Given the description of an element on the screen output the (x, y) to click on. 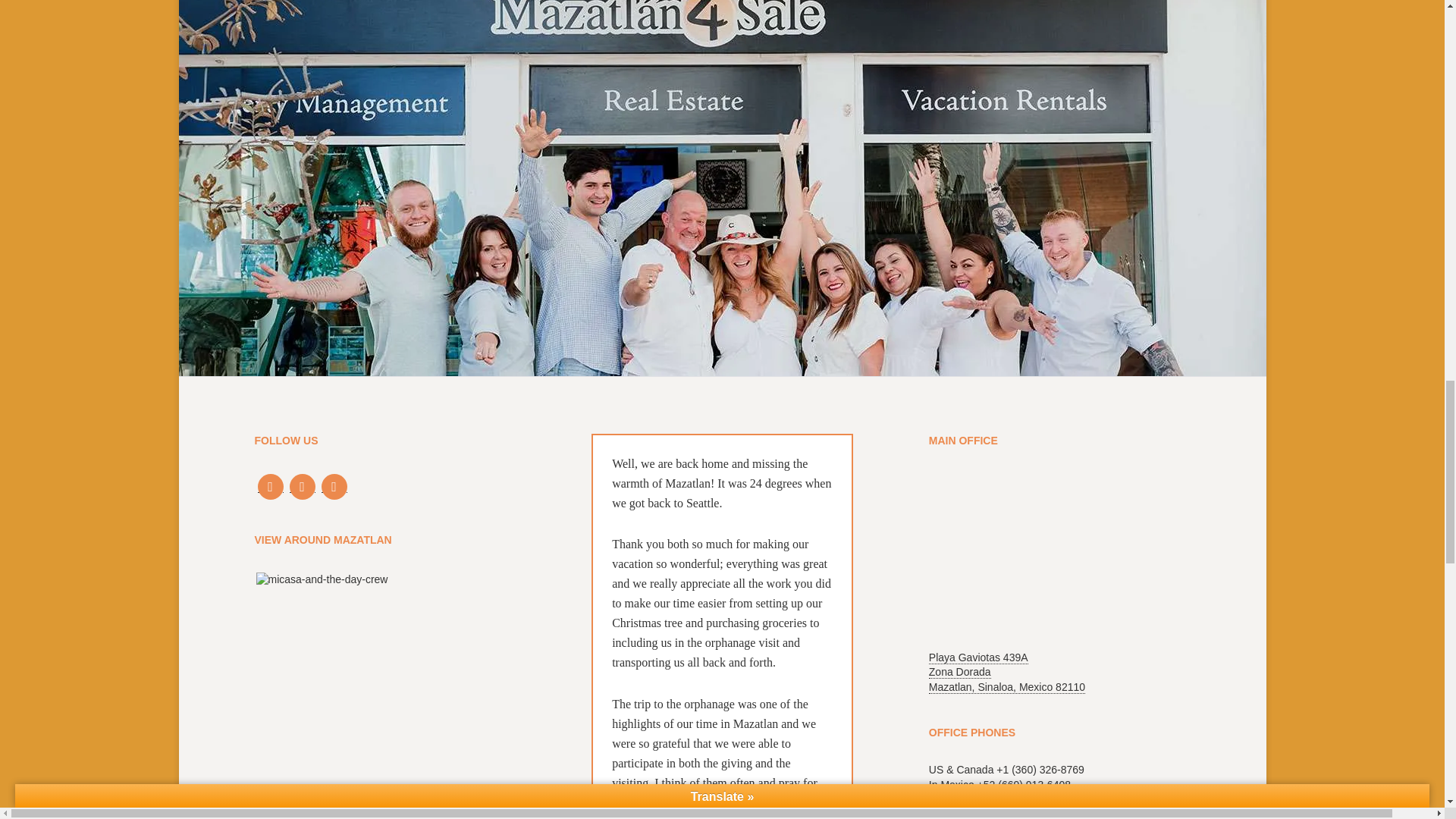
Twitter (302, 486)
Facebook (270, 486)
Default Label (334, 486)
Google Map Embed (1059, 552)
micasa-and-the-day-crew (449, 695)
